Given the description of an element on the screen output the (x, y) to click on. 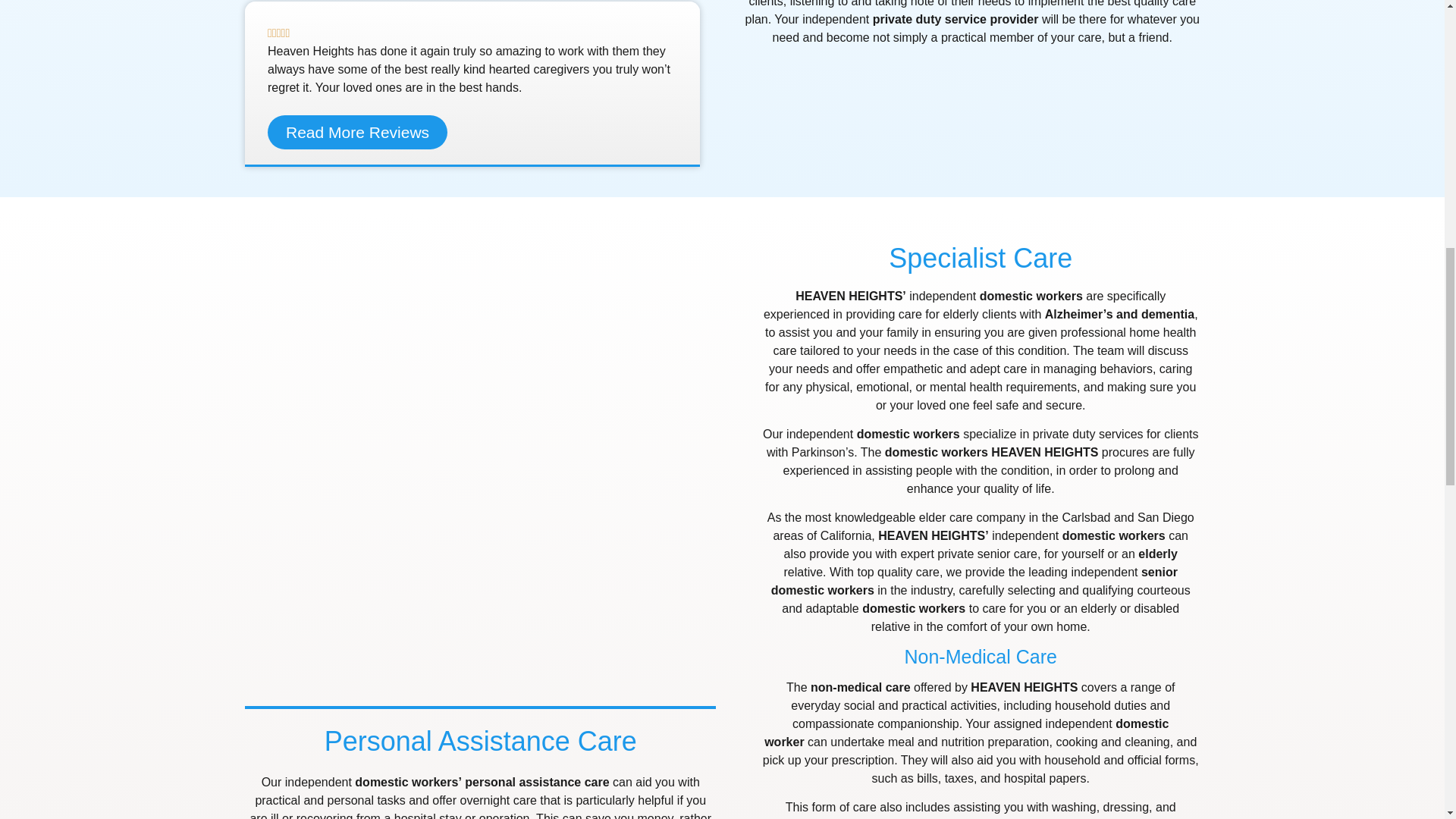
Read More Reviews (356, 132)
